Given the description of an element on the screen output the (x, y) to click on. 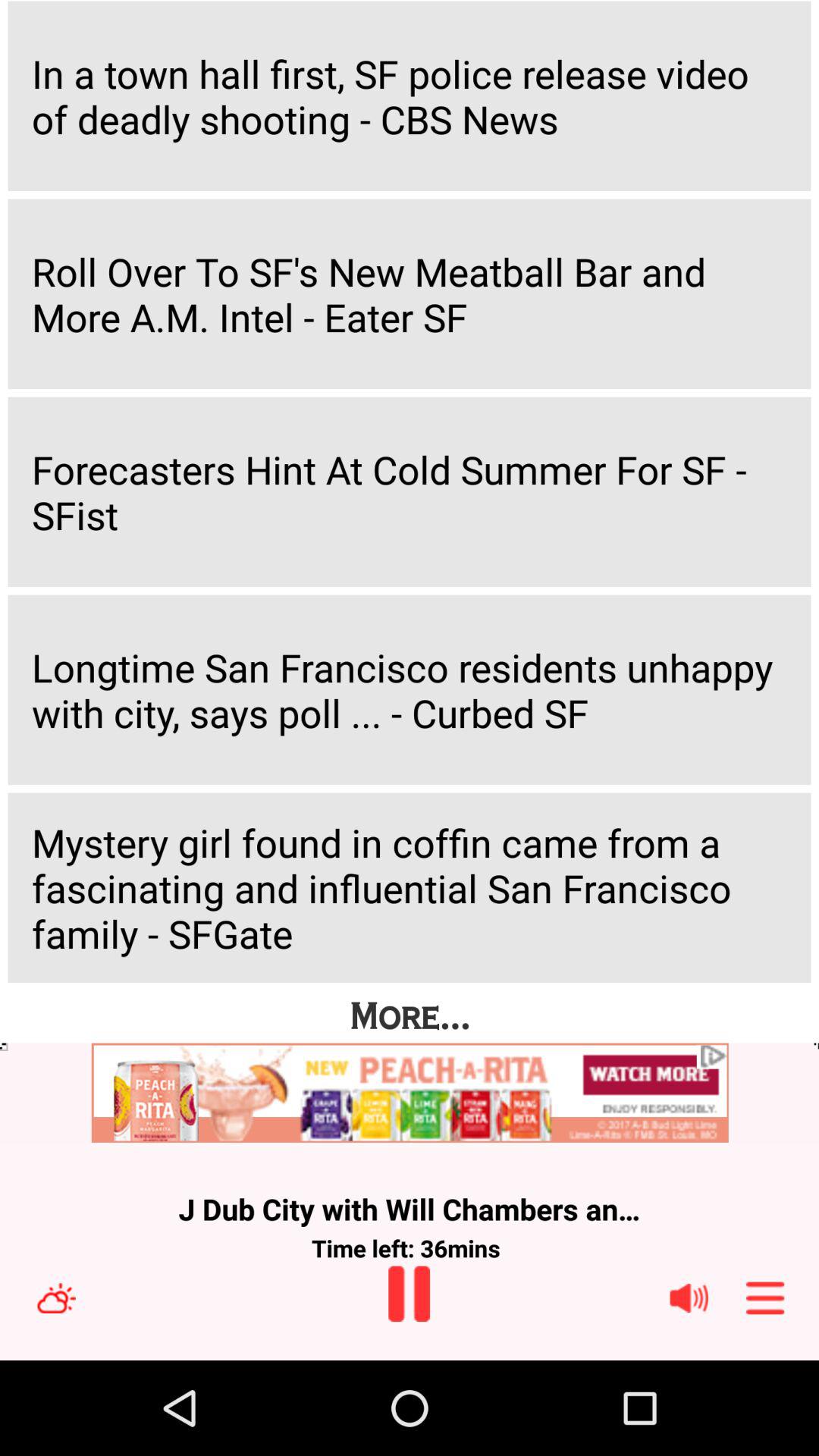
clear (56, 1298)
